Given the description of an element on the screen output the (x, y) to click on. 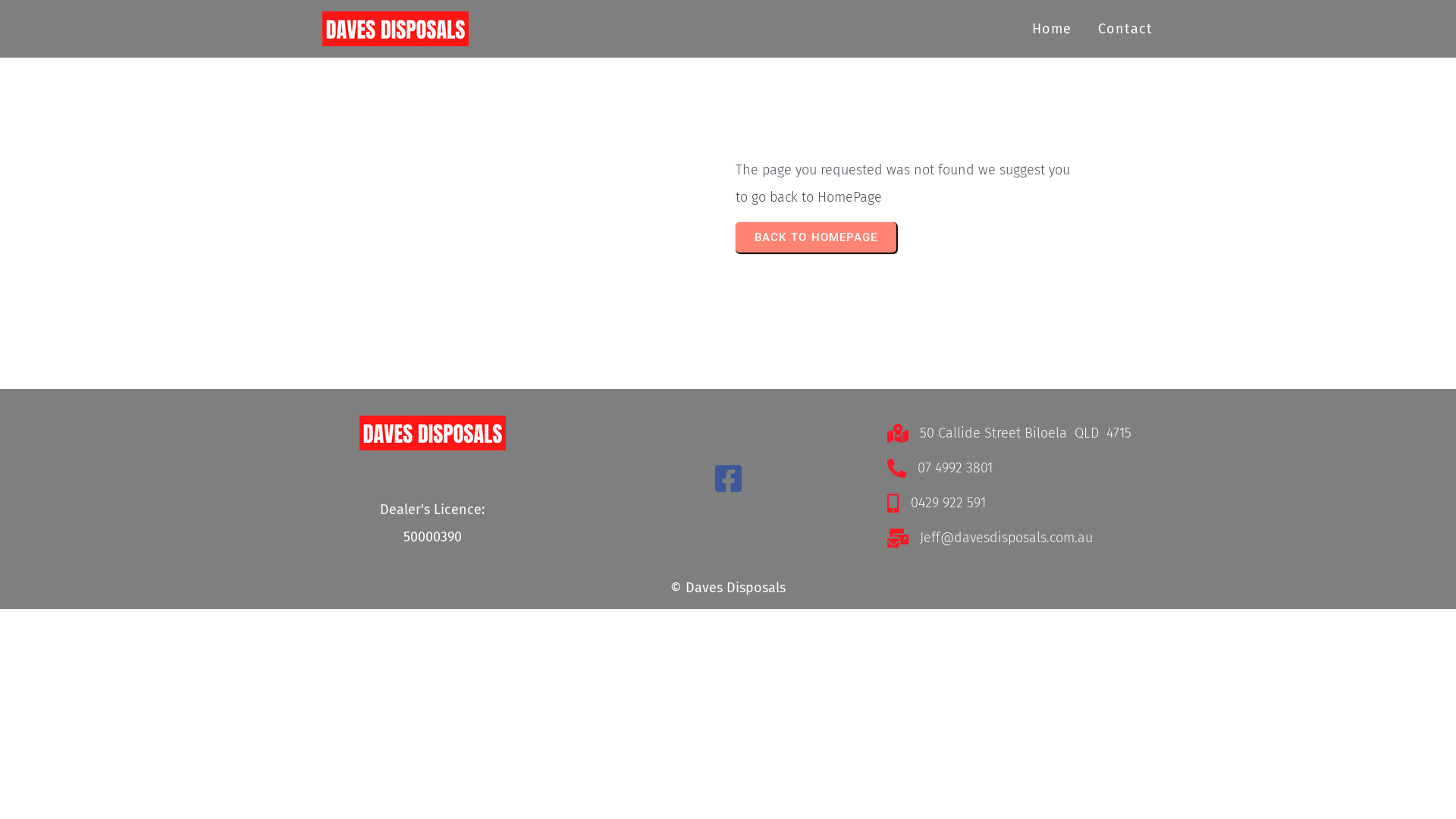
Jeff@davesdisposals.com.au Element type: text (1023, 537)
0429 922 591 Element type: text (1023, 502)
07 4992 3801 Element type: text (1023, 467)
Logo Element type: hover (395, 28)
BACK TO HOMEPAGE Element type: text (815, 237)
50 Callide Street Biloela  QLD  4715 Element type: text (1023, 432)
Home Element type: text (1051, 28)
Contact Element type: text (1125, 28)
Logo Element type: hover (432, 432)
